Given the description of an element on the screen output the (x, y) to click on. 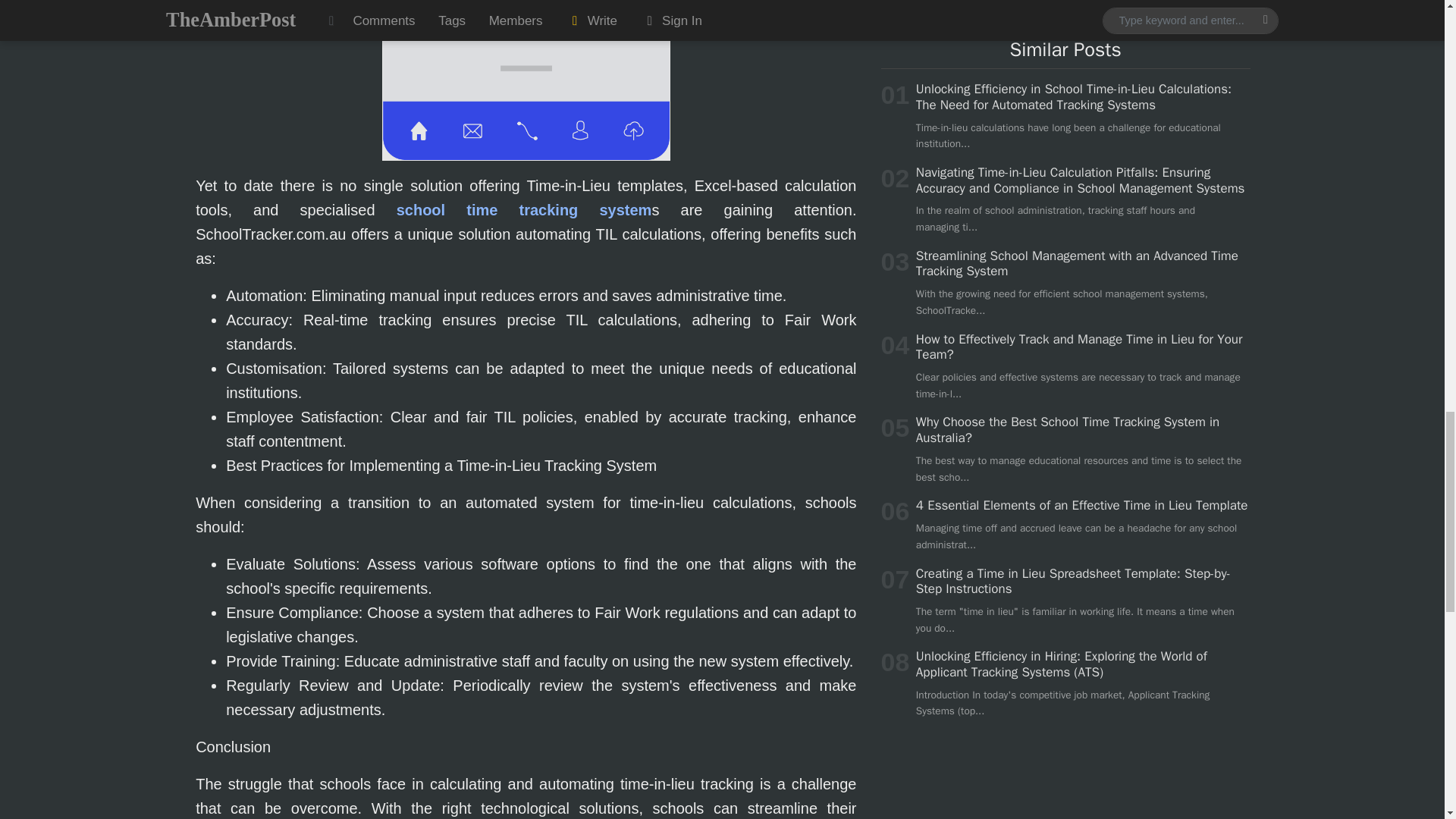
school time tracking system (524, 209)
